Given the description of an element on the screen output the (x, y) to click on. 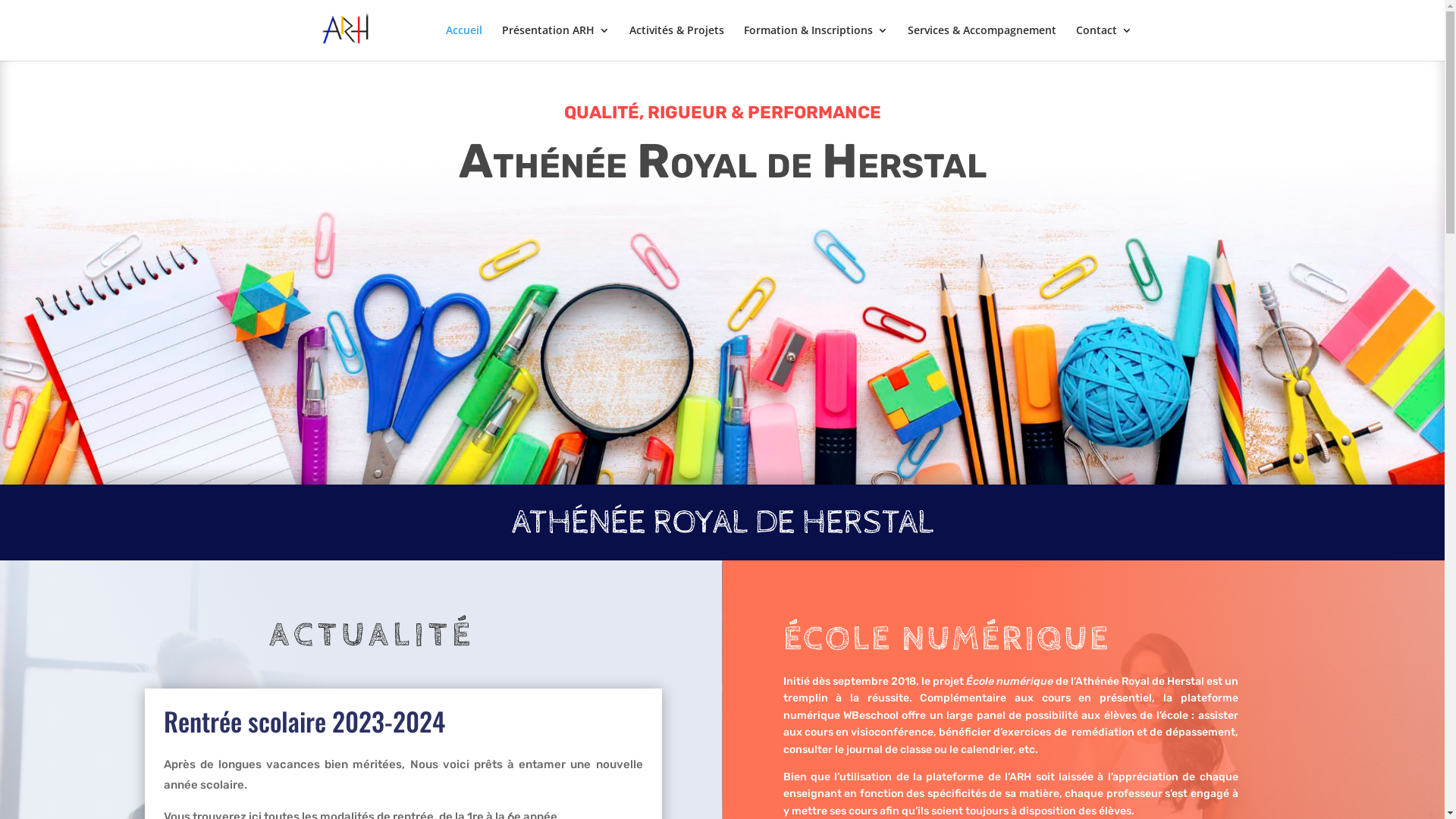
Services & Accompagnement Element type: text (980, 42)
Accueil Element type: text (463, 42)
Contact Element type: text (1103, 42)
Formation & Inscriptions Element type: text (815, 42)
